Given the description of an element on the screen output the (x, y) to click on. 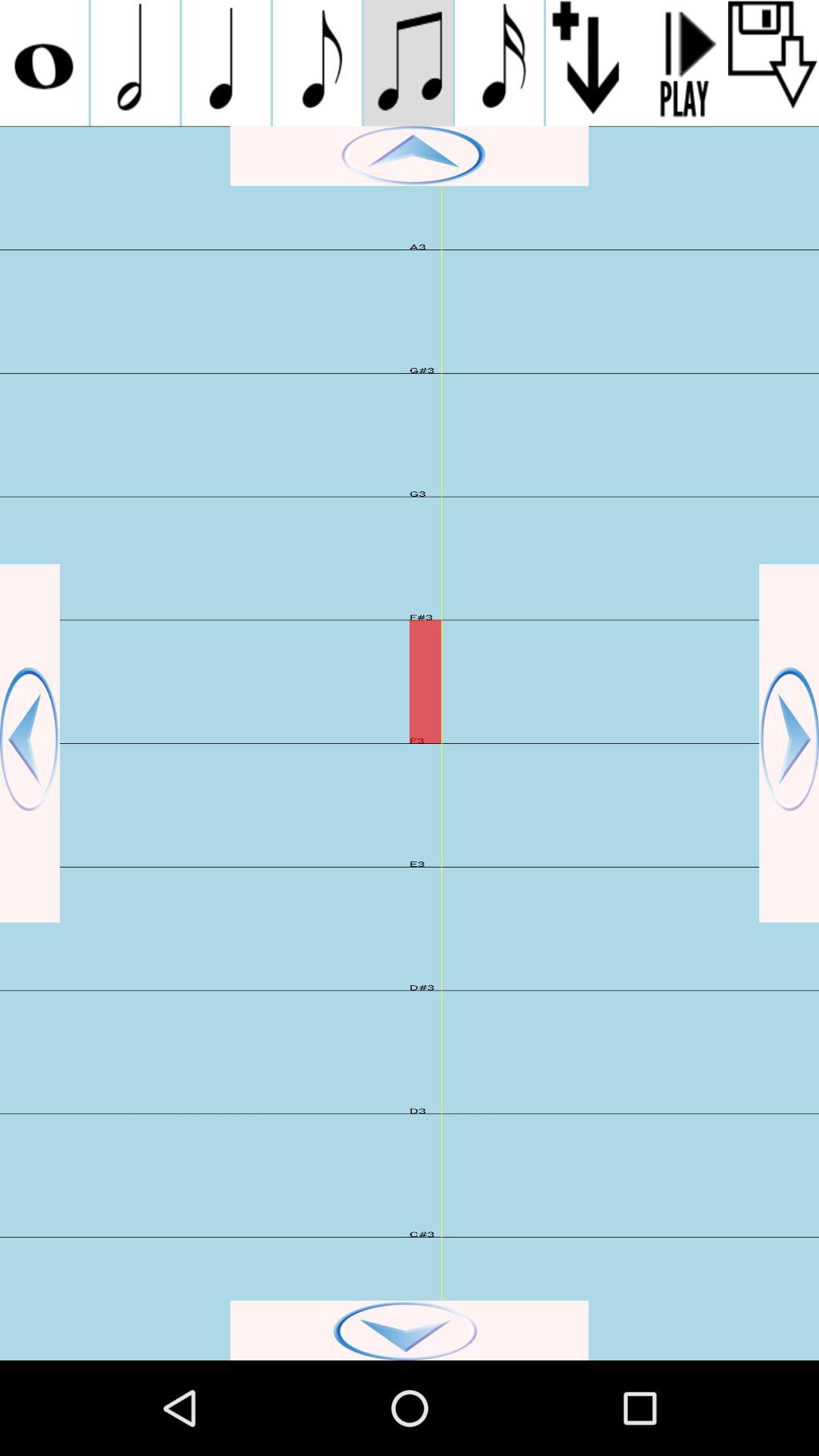
save this exercise (773, 63)
